Given the description of an element on the screen output the (x, y) to click on. 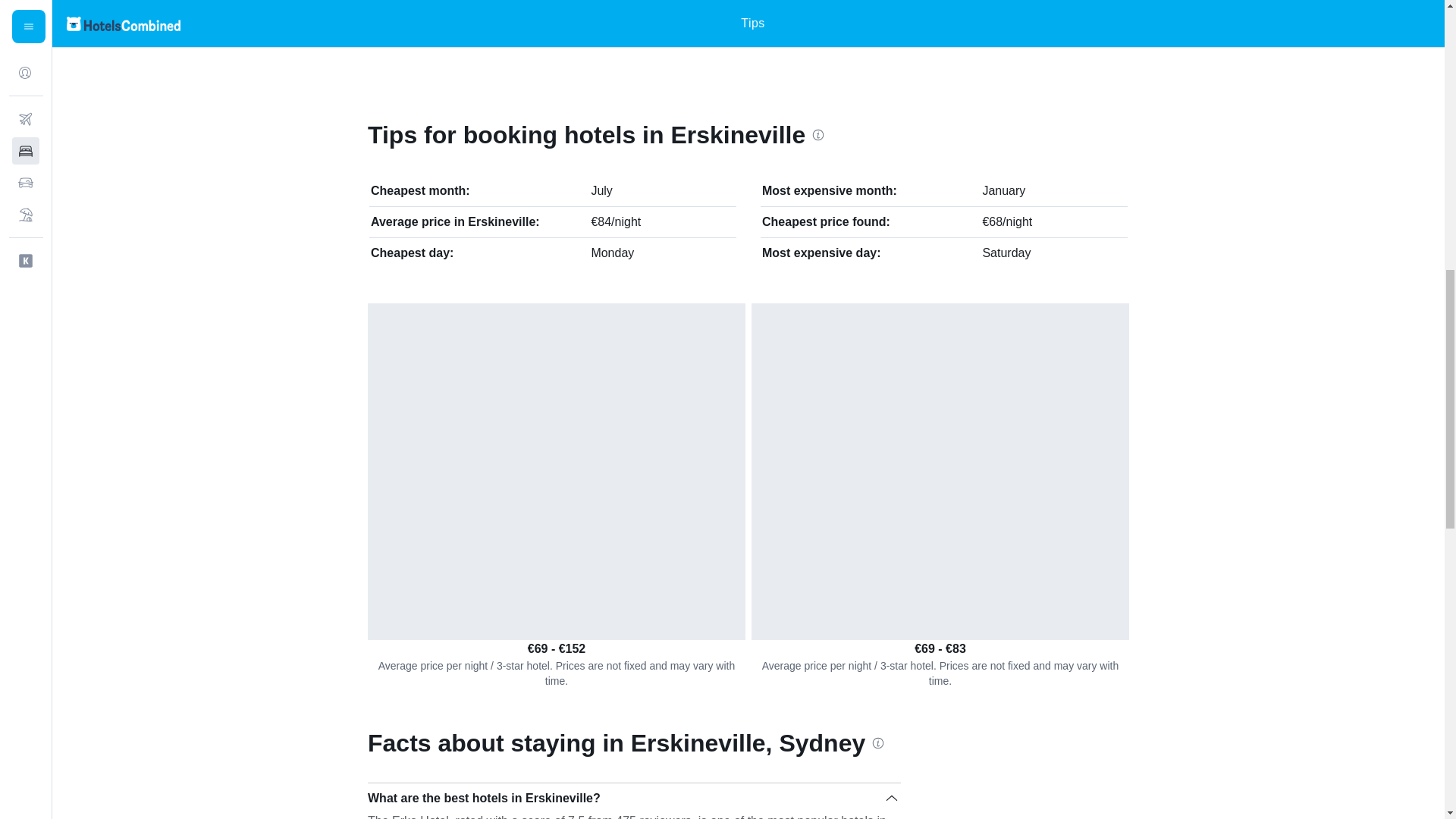
New South Wales Hotels (571, 22)
July (601, 190)
Australia Hotels (435, 22)
Saturday (1005, 252)
Sydney Hotels (699, 22)
Home (373, 22)
January (1003, 190)
Monday (612, 252)
